Given the description of an element on the screen output the (x, y) to click on. 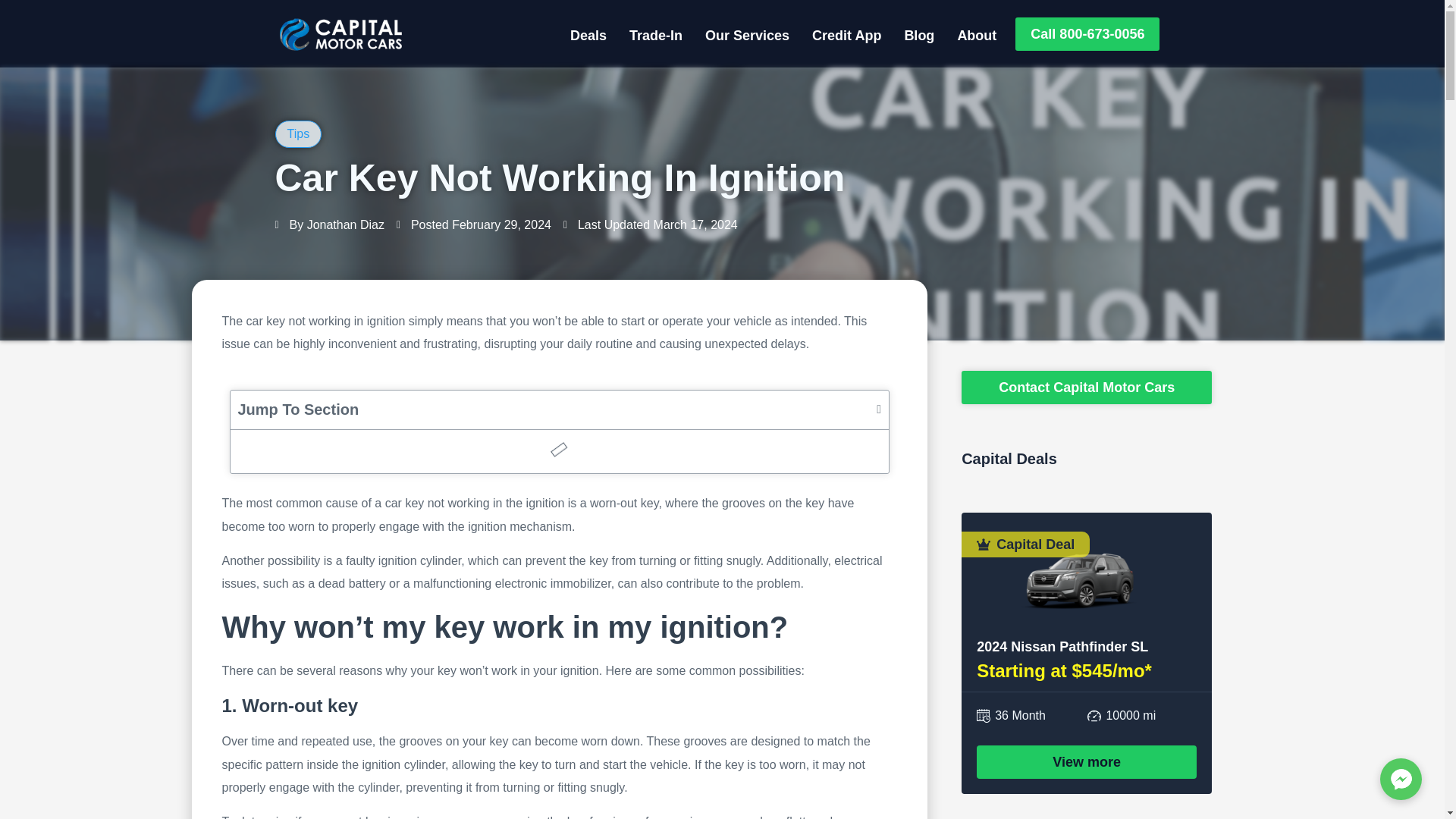
Tips (297, 133)
Contact Capital Motor Cars (1085, 387)
Our Services (747, 35)
By Jonathan Diaz (329, 225)
Trade-In (655, 35)
Credit App (846, 35)
View more (1086, 761)
Call 800-673-0056 (1086, 33)
Deals (588, 35)
Blog (918, 35)
